Given the description of an element on the screen output the (x, y) to click on. 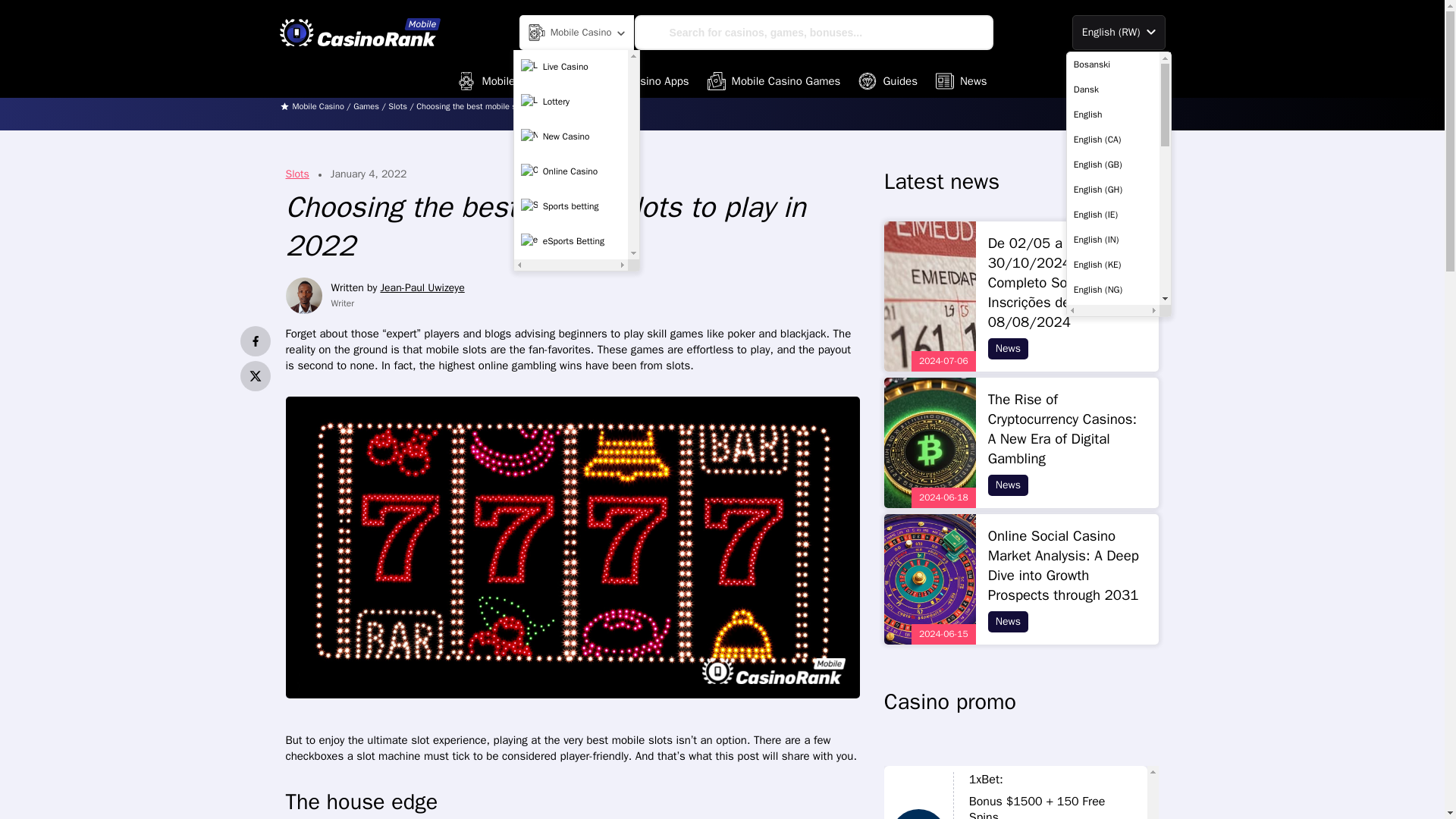
eSports Betting (571, 241)
Sports betting (571, 206)
Lottery (571, 102)
Hrvatski (1113, 464)
Nederlands (1113, 489)
Mobile Casinos (507, 80)
Live Casino (571, 67)
New Casino (571, 136)
Dansk (1113, 89)
Online Casino (571, 172)
Bosanski (1113, 63)
Shqip (1113, 539)
English (1113, 113)
